Given the description of an element on the screen output the (x, y) to click on. 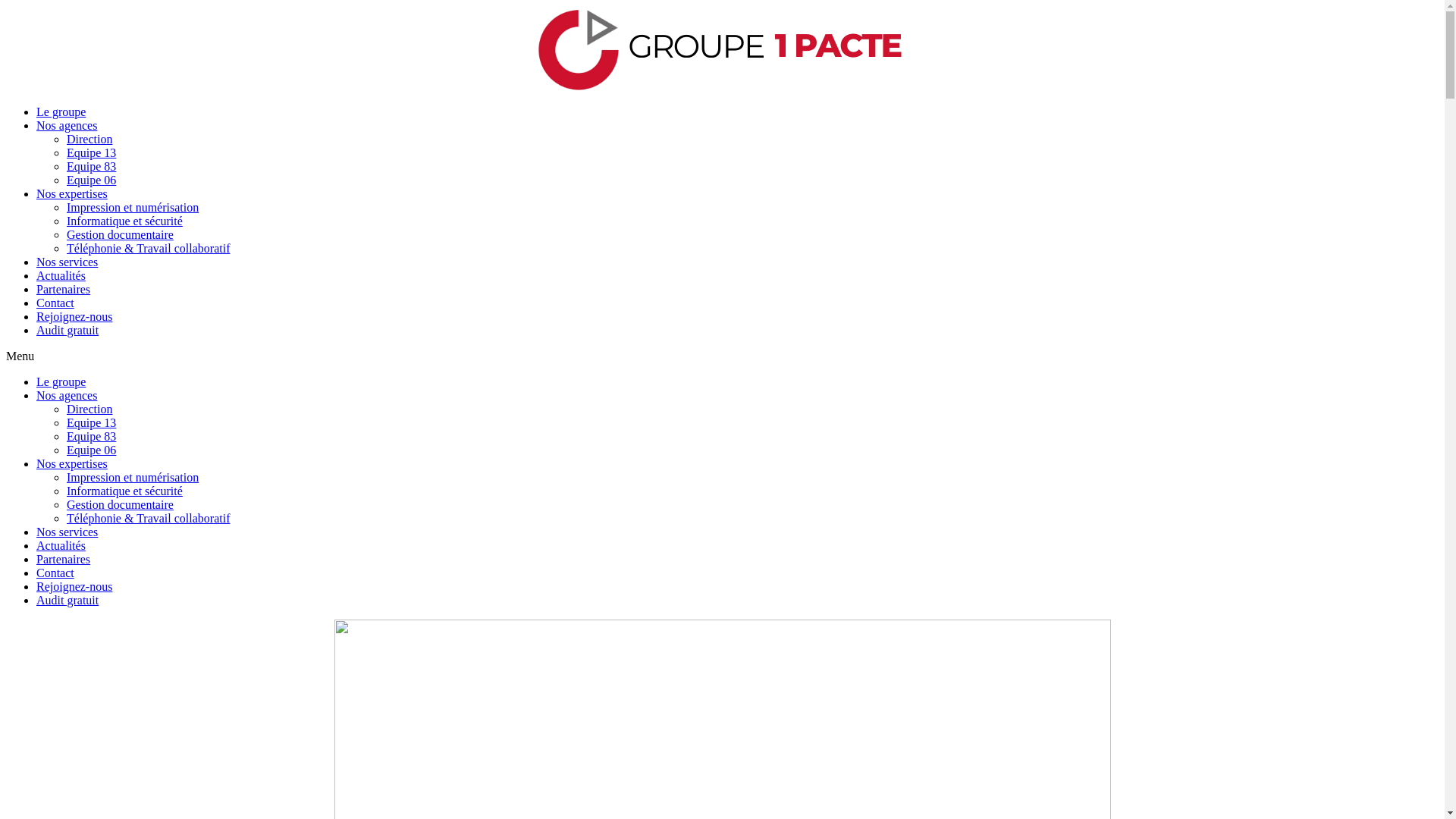
Gestion documentaire Element type: text (119, 504)
Le groupe Element type: text (60, 381)
Gestion documentaire Element type: text (119, 234)
Audit gratuit Element type: text (67, 599)
Audit gratuit Element type: text (67, 329)
Nos agences Element type: text (66, 395)
Nos expertises Element type: text (71, 193)
Equipe 13 Element type: text (91, 422)
Partenaires Element type: text (63, 558)
Nos services Element type: text (66, 261)
Contact Element type: text (55, 572)
Nos expertises Element type: text (71, 463)
Contact Element type: text (55, 302)
Direction Element type: text (89, 408)
Nos services Element type: text (66, 531)
Equipe 83 Element type: text (91, 166)
Equipe 06 Element type: text (91, 179)
Equipe 13 Element type: text (91, 152)
Equipe 83 Element type: text (91, 435)
Partenaires Element type: text (63, 288)
Le groupe Element type: text (60, 111)
Direction Element type: text (89, 138)
Equipe 06 Element type: text (91, 449)
Rejoignez-nous Element type: text (74, 316)
Nos agences Element type: text (66, 125)
Rejoignez-nous Element type: text (74, 586)
